Given the description of an element on the screen output the (x, y) to click on. 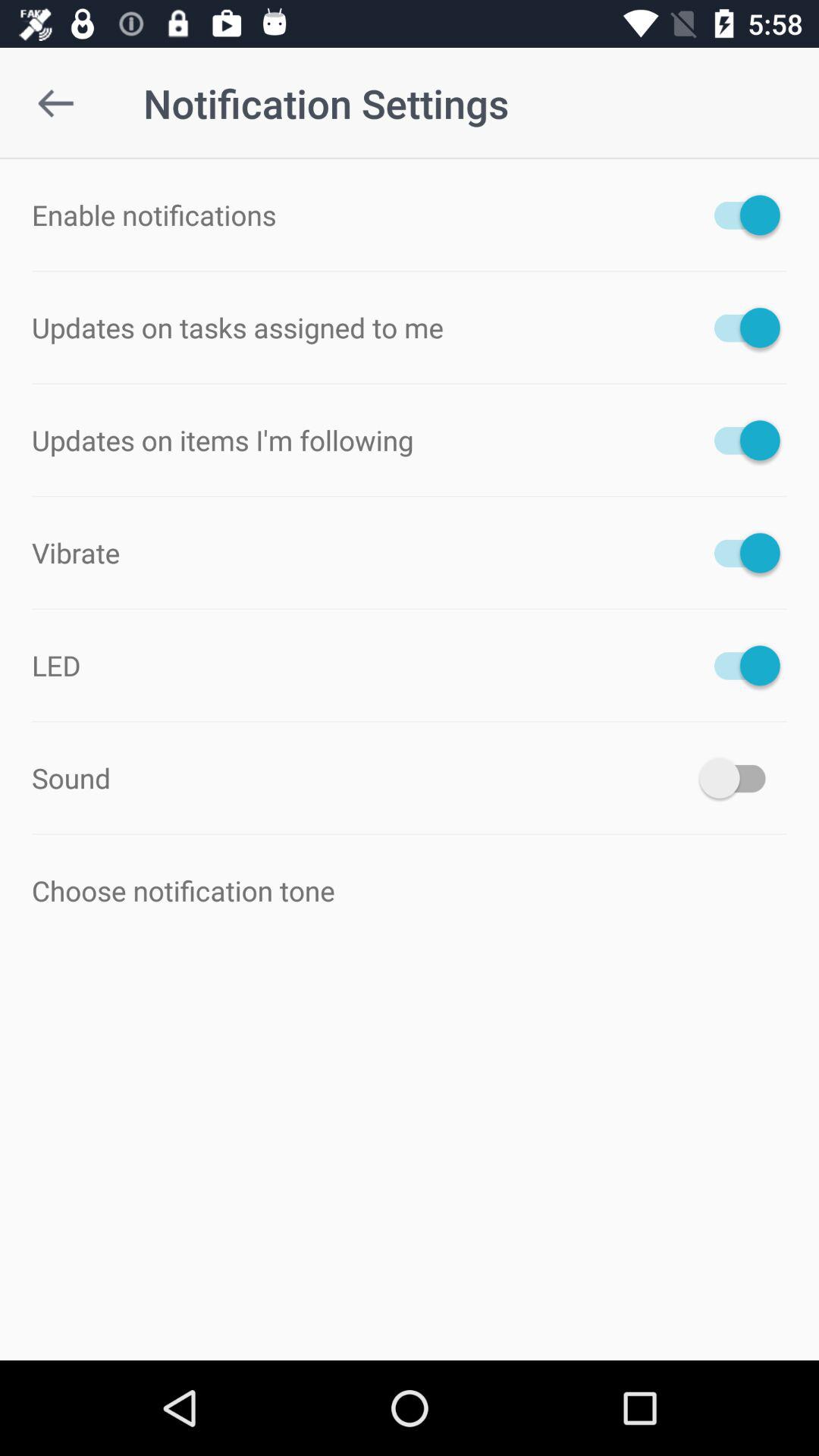
press the item next to updates on items (739, 439)
